Given the description of an element on the screen output the (x, y) to click on. 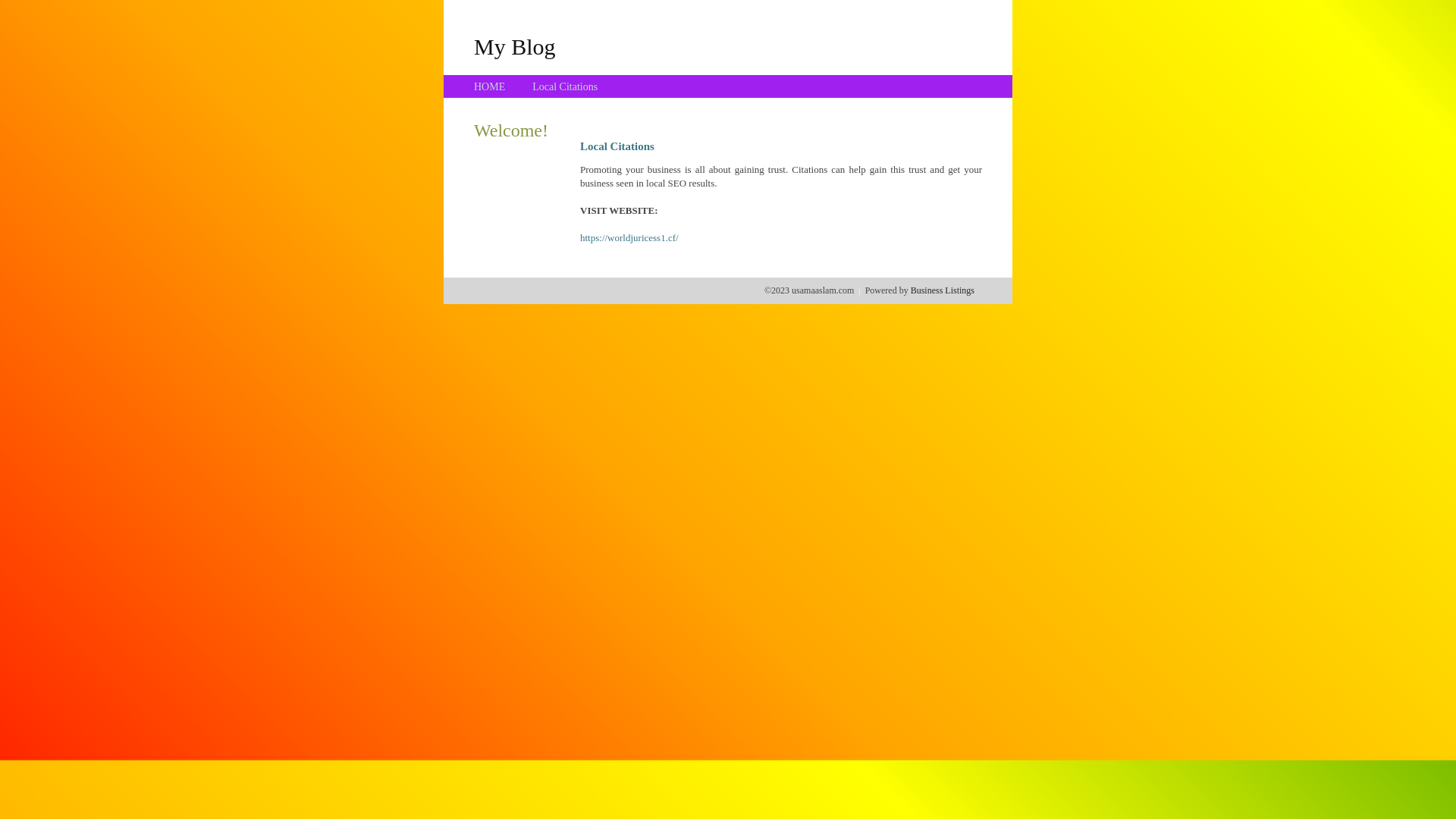
HOME Element type: text (489, 86)
Local Citations Element type: text (564, 86)
My Blog Element type: text (514, 46)
https://worldjuricess1.cf/ Element type: text (629, 237)
Business Listings Element type: text (942, 290)
